Given the description of an element on the screen output the (x, y) to click on. 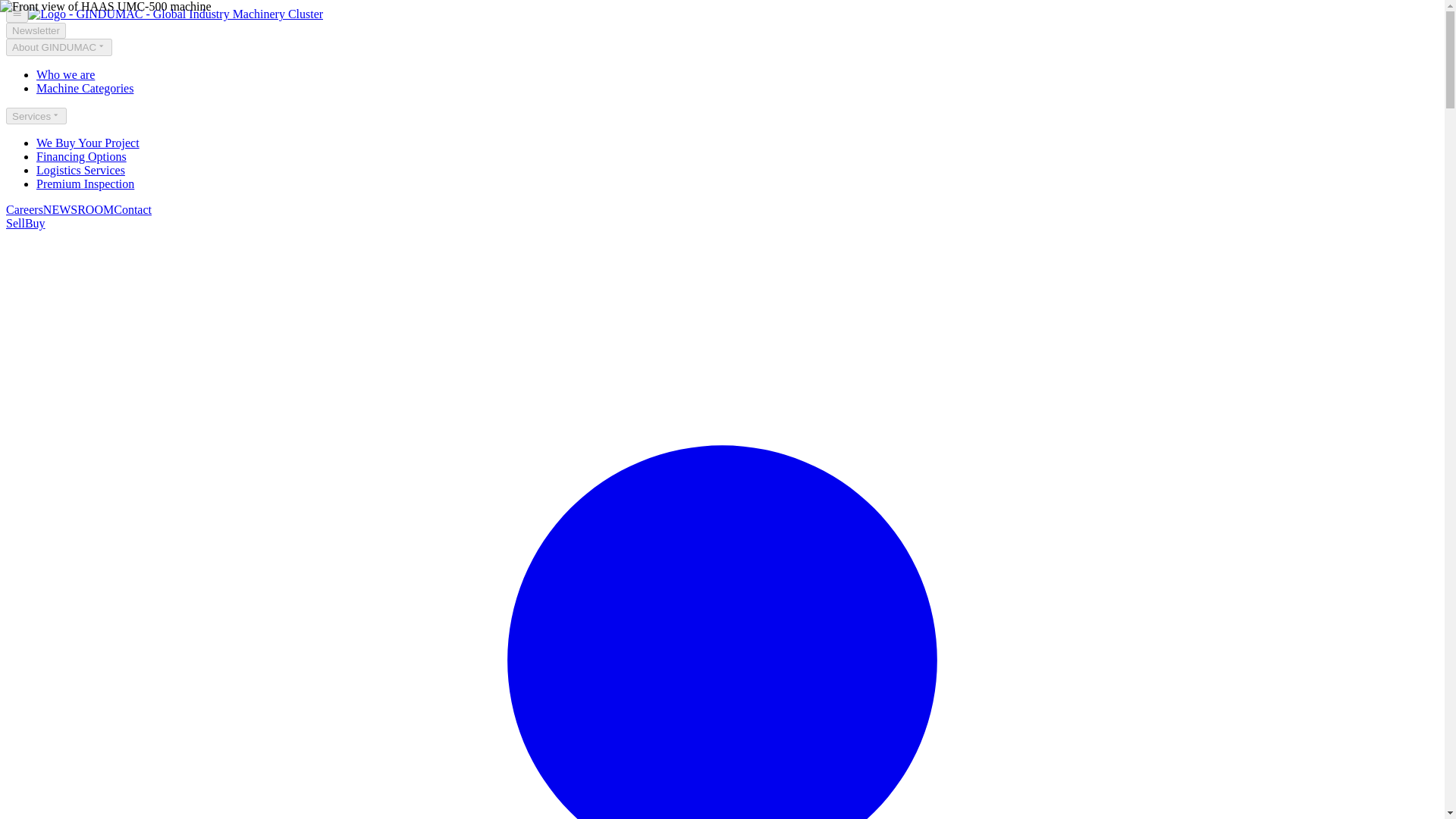
Newsletter (35, 30)
Machine Categories (84, 88)
Services (35, 115)
Logistics Services (80, 169)
Sell (14, 223)
Financing Options (81, 155)
Premium Inspection (84, 183)
About GINDUMAC (58, 46)
Contact (132, 209)
We Buy Your Project (87, 142)
